Given the description of an element on the screen output the (x, y) to click on. 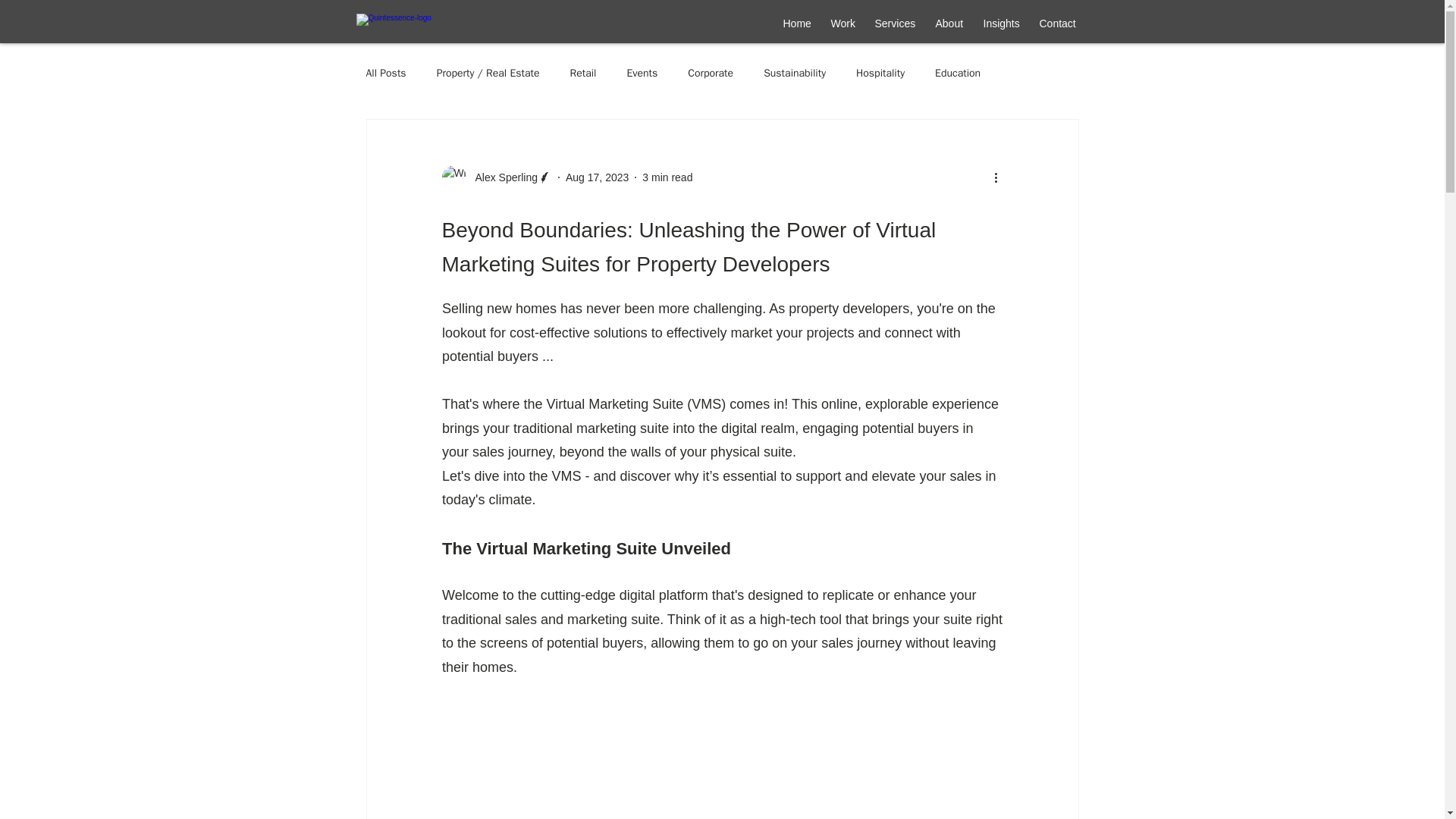
Retail (583, 73)
3 min read (667, 177)
Aug 17, 2023 (597, 177)
Home (797, 23)
Sustainability (793, 73)
Insights (1001, 23)
Contact (1057, 23)
Services (894, 23)
All Posts (385, 73)
Alex Sperling (501, 177)
Corporate (710, 73)
Education (956, 73)
About (948, 23)
Work (842, 23)
Hospitality (880, 73)
